Given the description of an element on the screen output the (x, y) to click on. 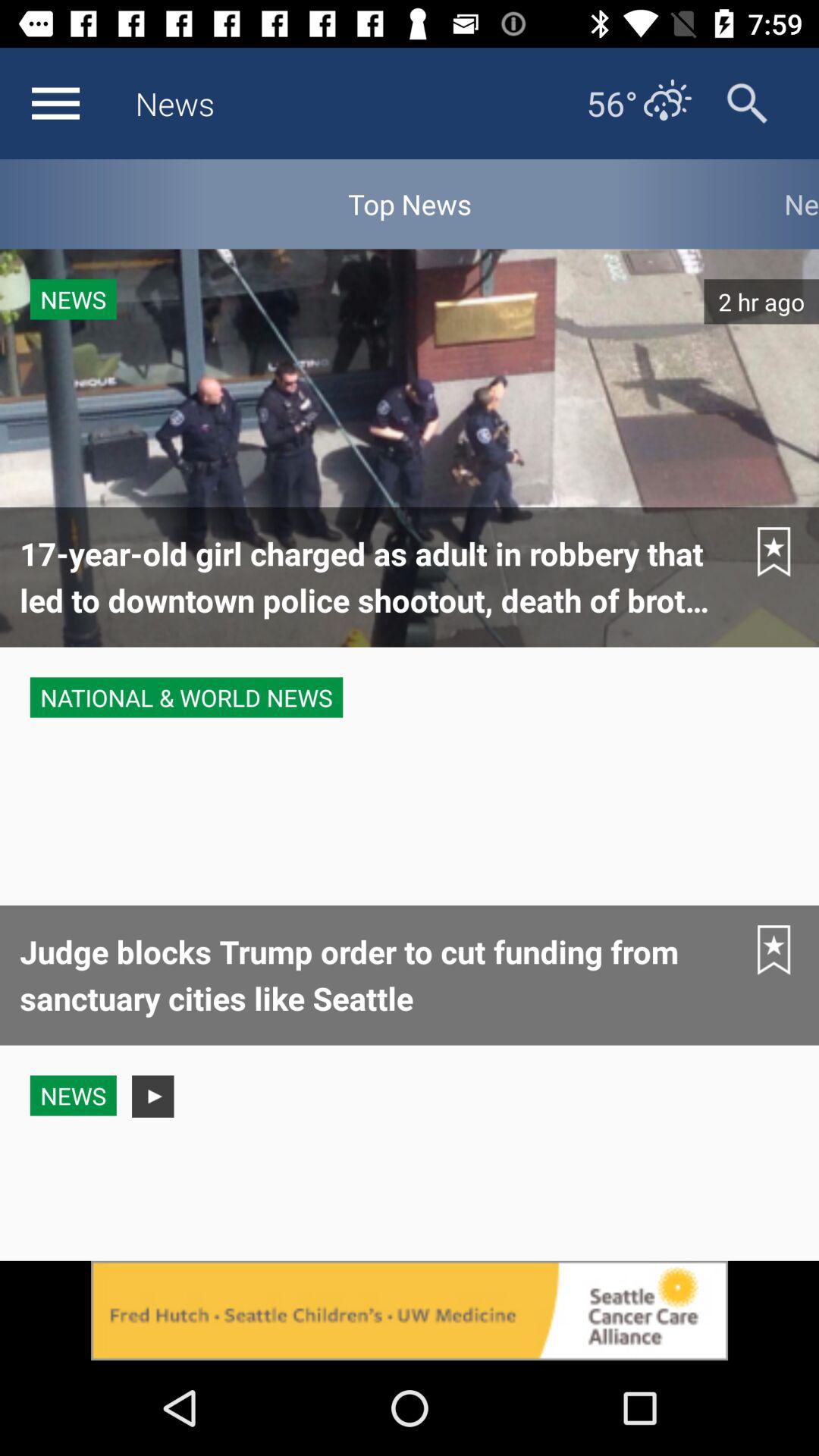
search (747, 103)
